Given the description of an element on the screen output the (x, y) to click on. 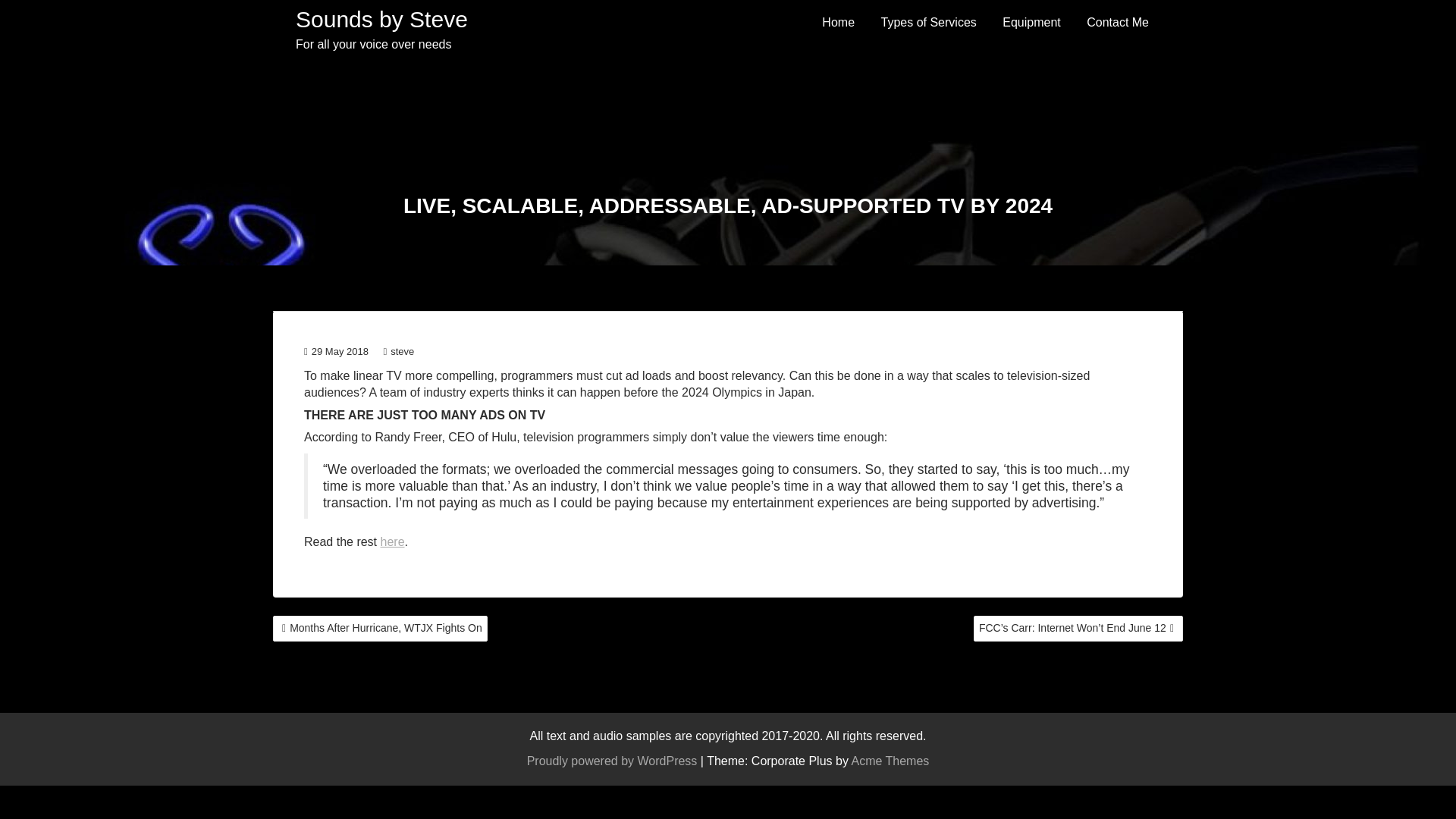
Equipment (1031, 22)
Sounds by Steve (381, 18)
Months After Hurricane, WTJX Fights On (380, 628)
Contact Me (1117, 22)
Acme Themes (889, 760)
steve (397, 351)
Home (838, 22)
Proudly powered by WordPress (612, 760)
Sounds by Steve (381, 18)
Types of Services (928, 22)
